Given the description of an element on the screen output the (x, y) to click on. 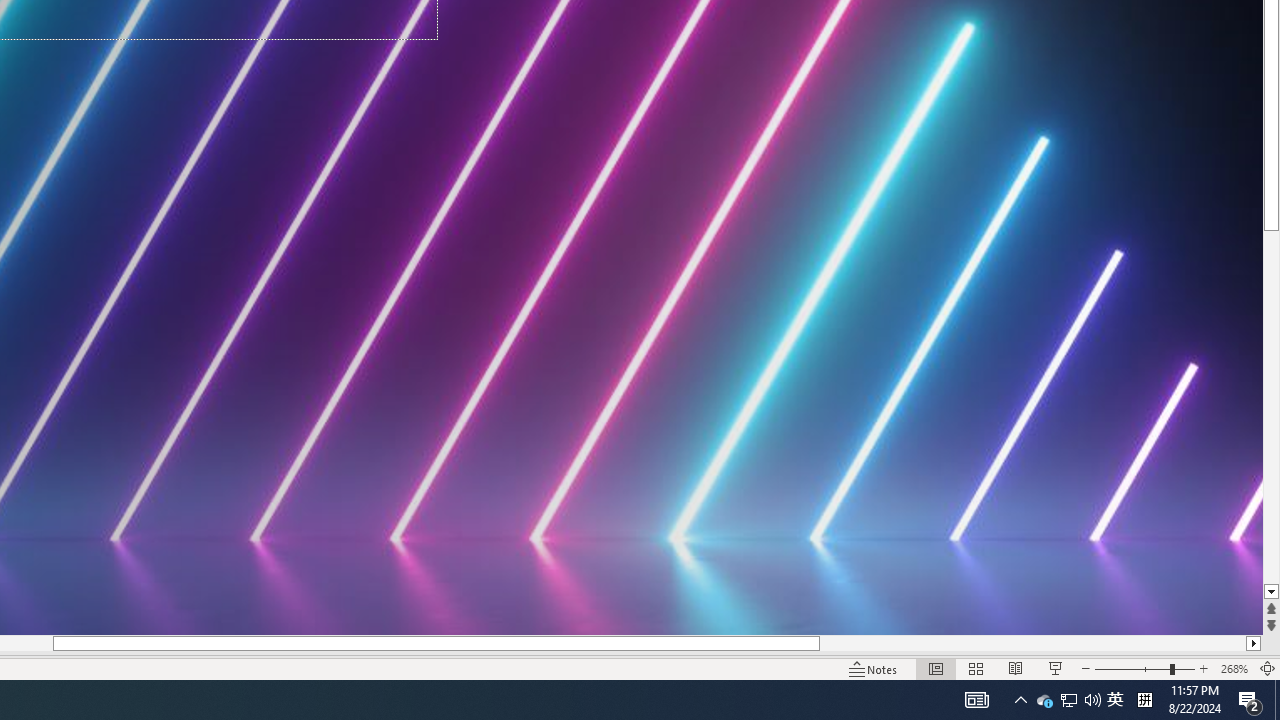
Zoom 268% (1234, 668)
